Given the description of an element on the screen output the (x, y) to click on. 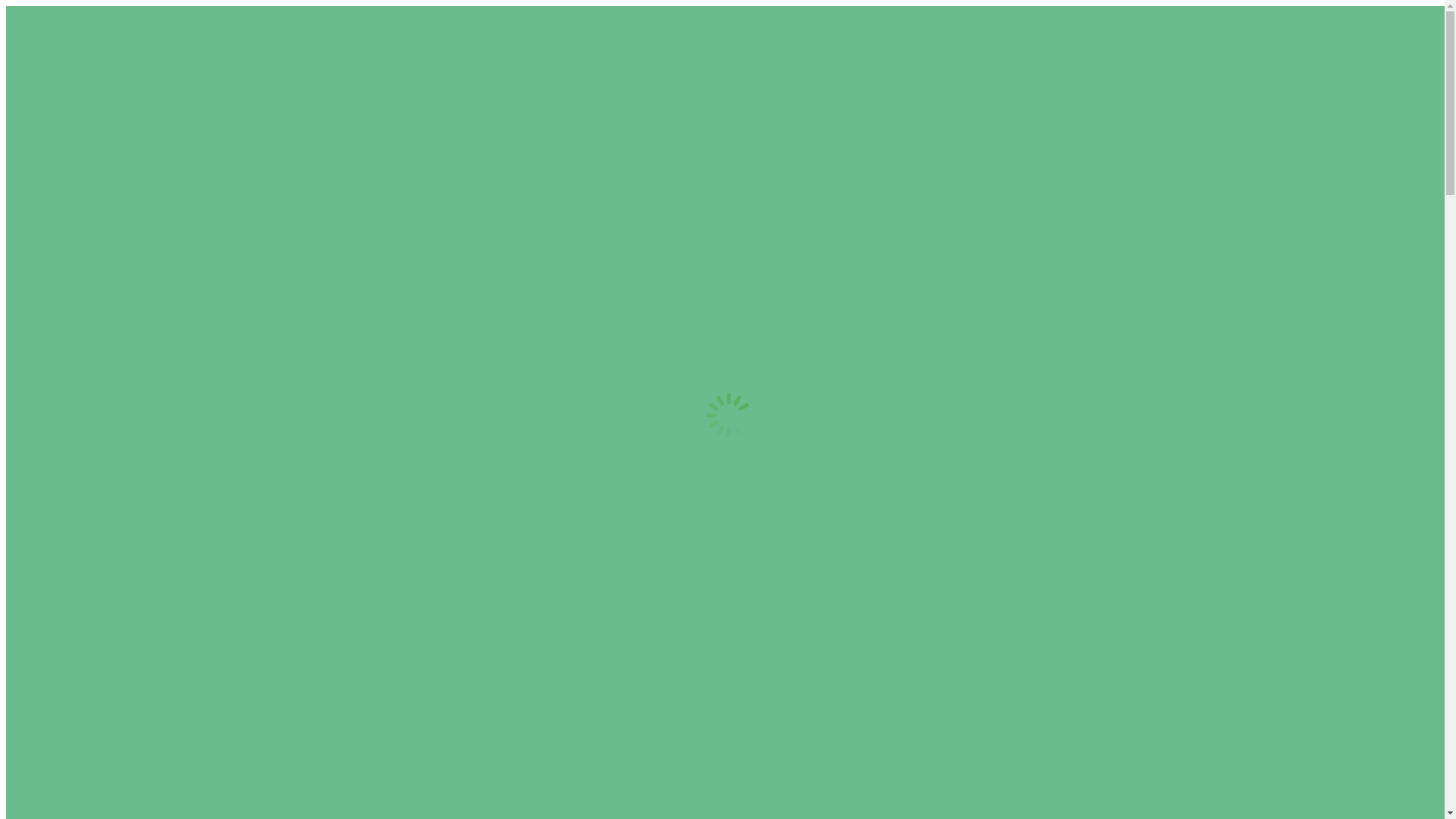
Contact Element type: text (62, 252)
Services Element type: text (64, 235)
Services Element type: text (64, 147)
Discover our services Element type: text (820, 577)
About Element type: text (58, 130)
Contact Element type: text (62, 163)
About Element type: text (58, 219)
